Given the description of an element on the screen output the (x, y) to click on. 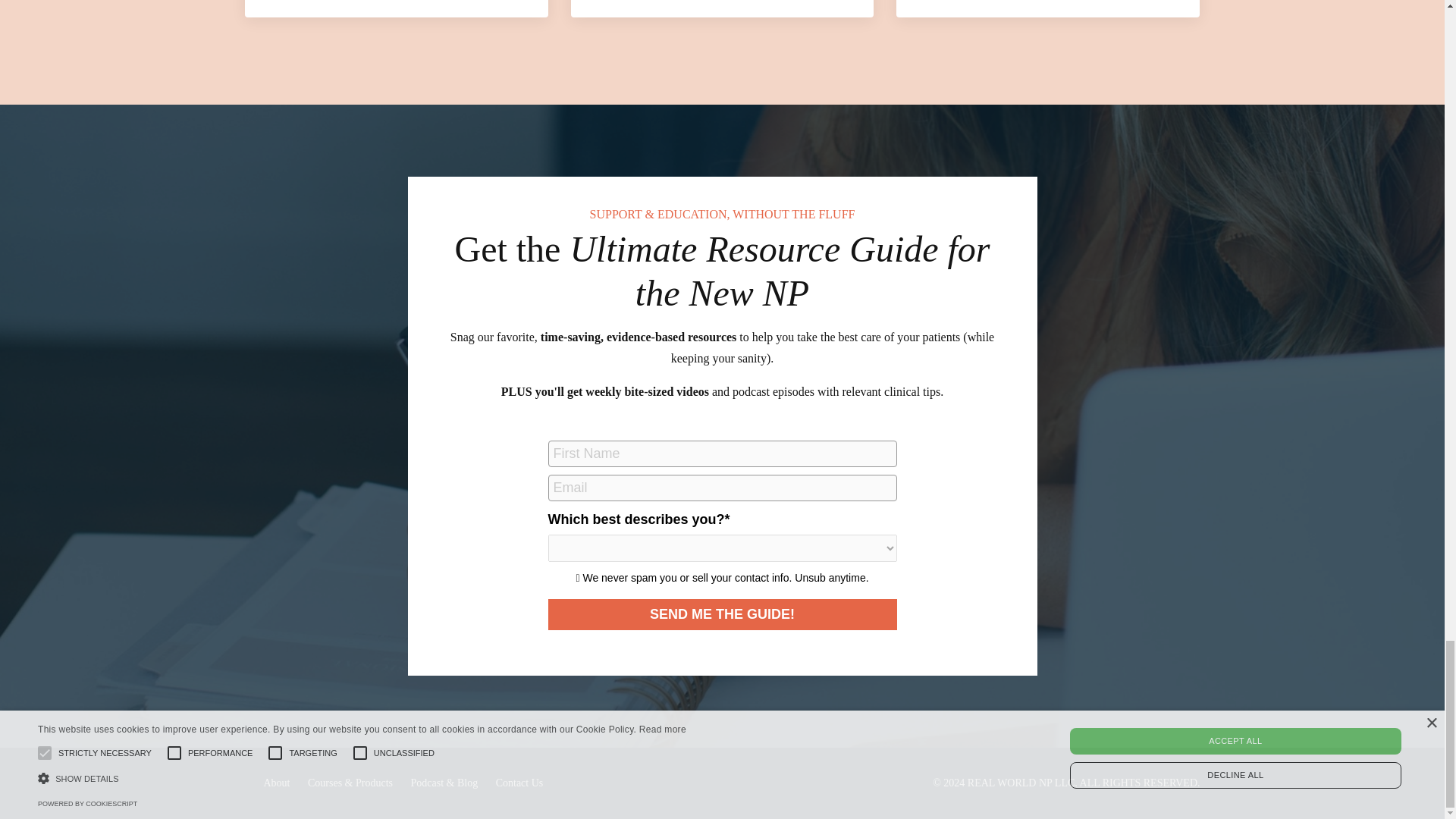
Contact Us (519, 782)
About (276, 782)
SEND ME THE GUIDE! (721, 613)
